Given the description of an element on the screen output the (x, y) to click on. 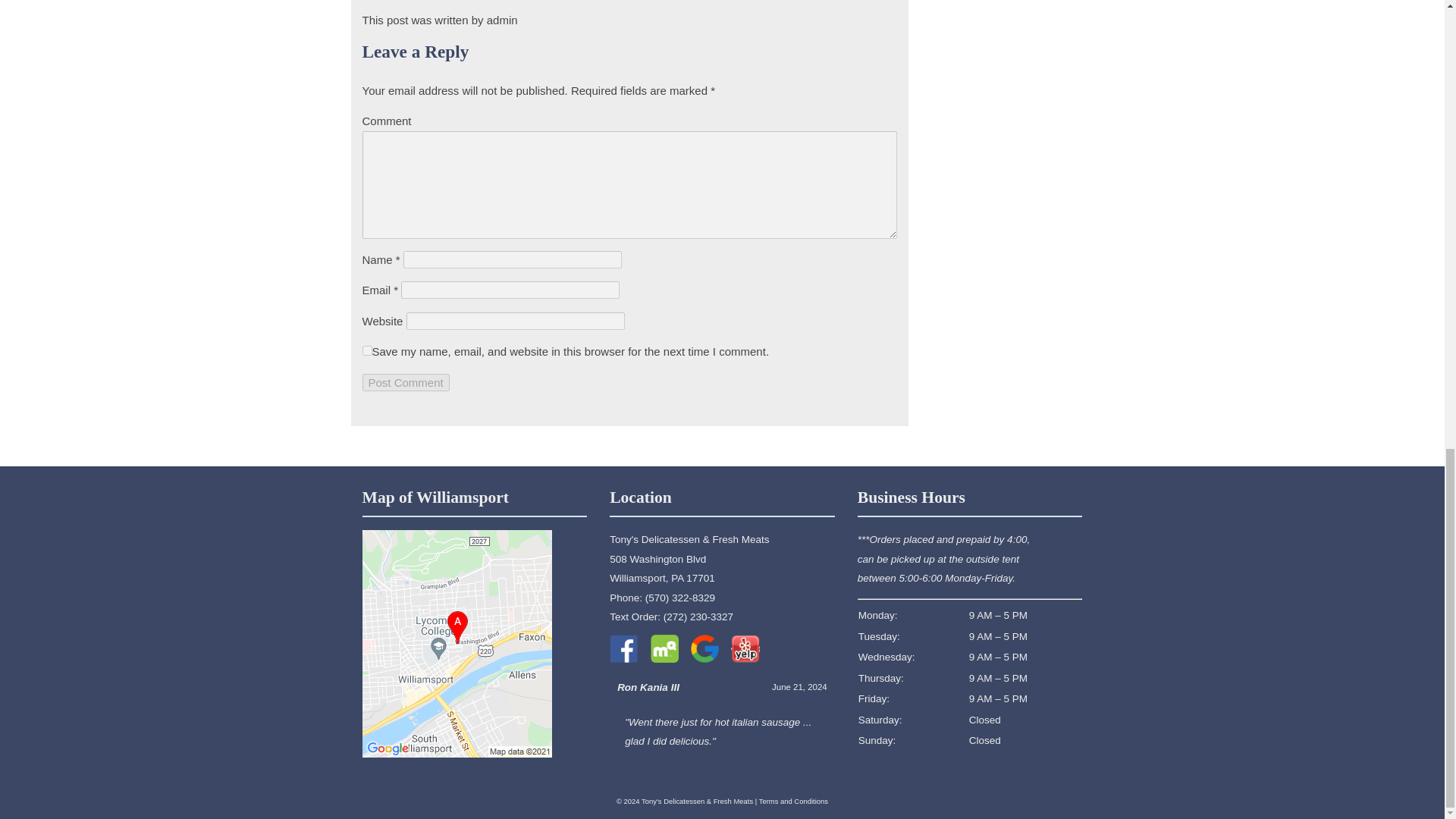
Post Comment (405, 382)
Terms and Conditions (793, 800)
Post Comment (662, 568)
yes (405, 382)
